Given the description of an element on the screen output the (x, y) to click on. 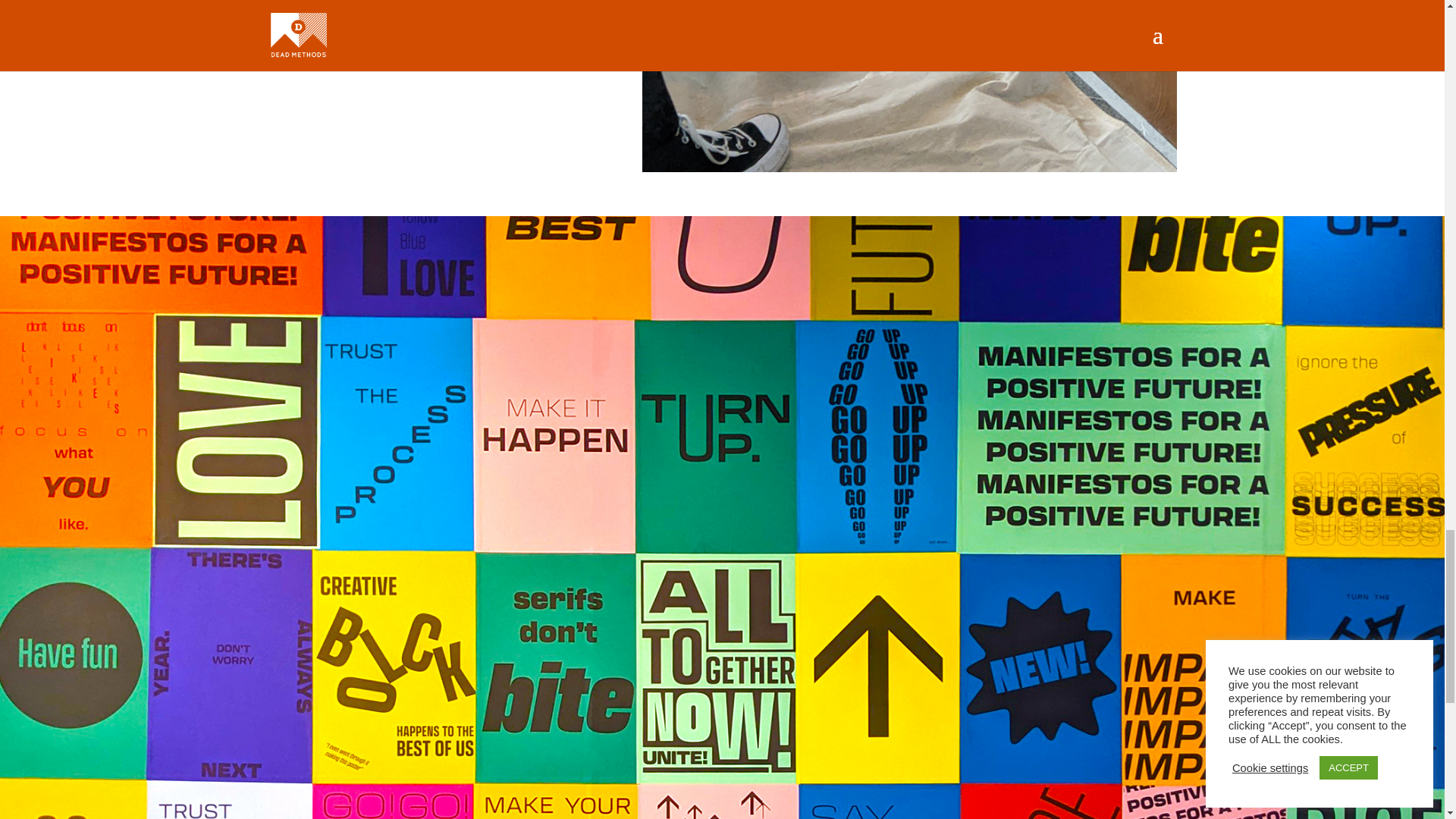
NEW!-WIP2 (909, 85)
